Given the description of an element on the screen output the (x, y) to click on. 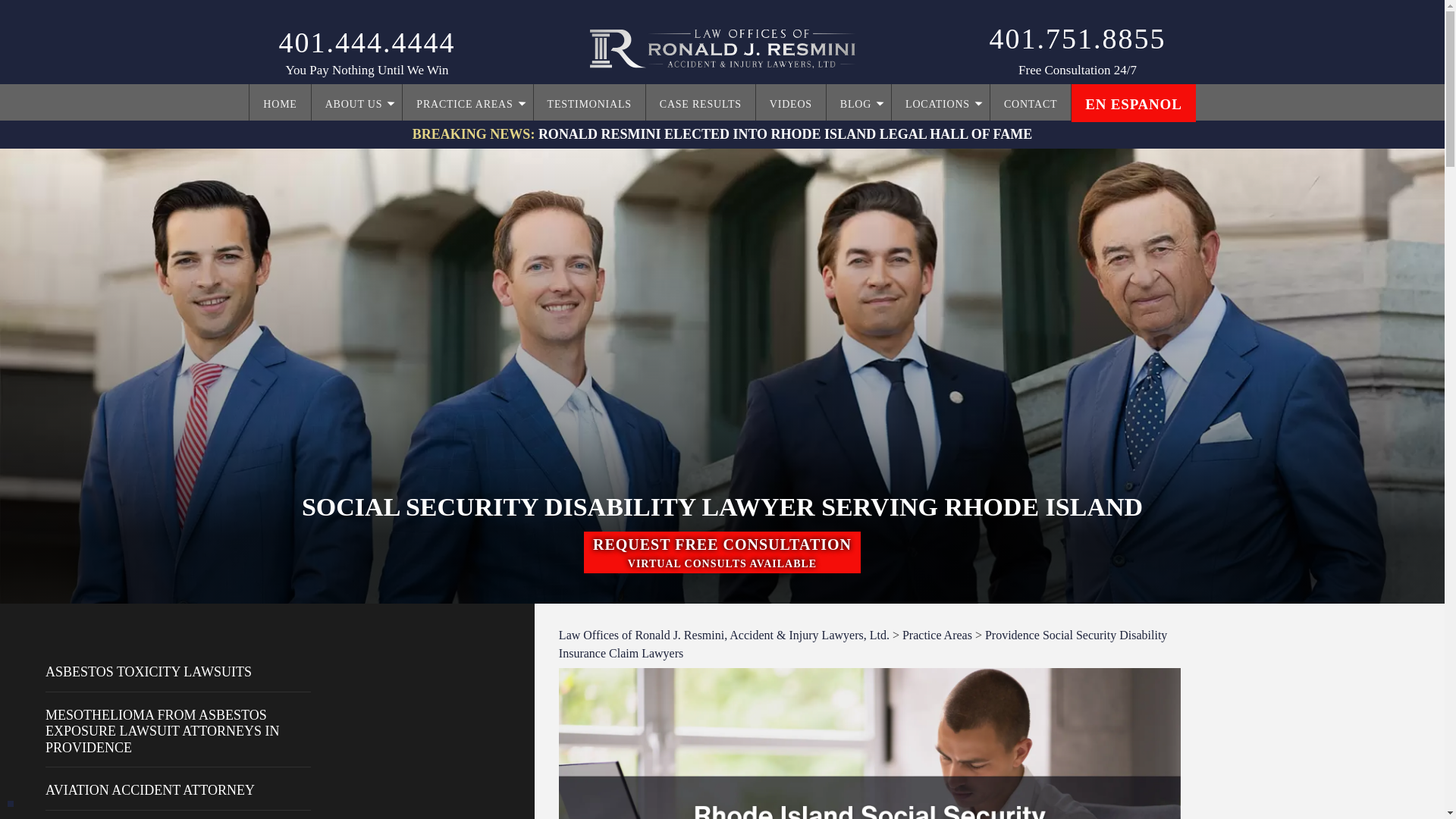
401.751.8855 (1077, 38)
HOME (279, 103)
ABOUT US (357, 103)
SKIP TO CONTENT (342, 94)
PRACTICE AREAS (467, 103)
401.444.4444 (721, 552)
Go to Practice Areas. (367, 42)
